Given the description of an element on the screen output the (x, y) to click on. 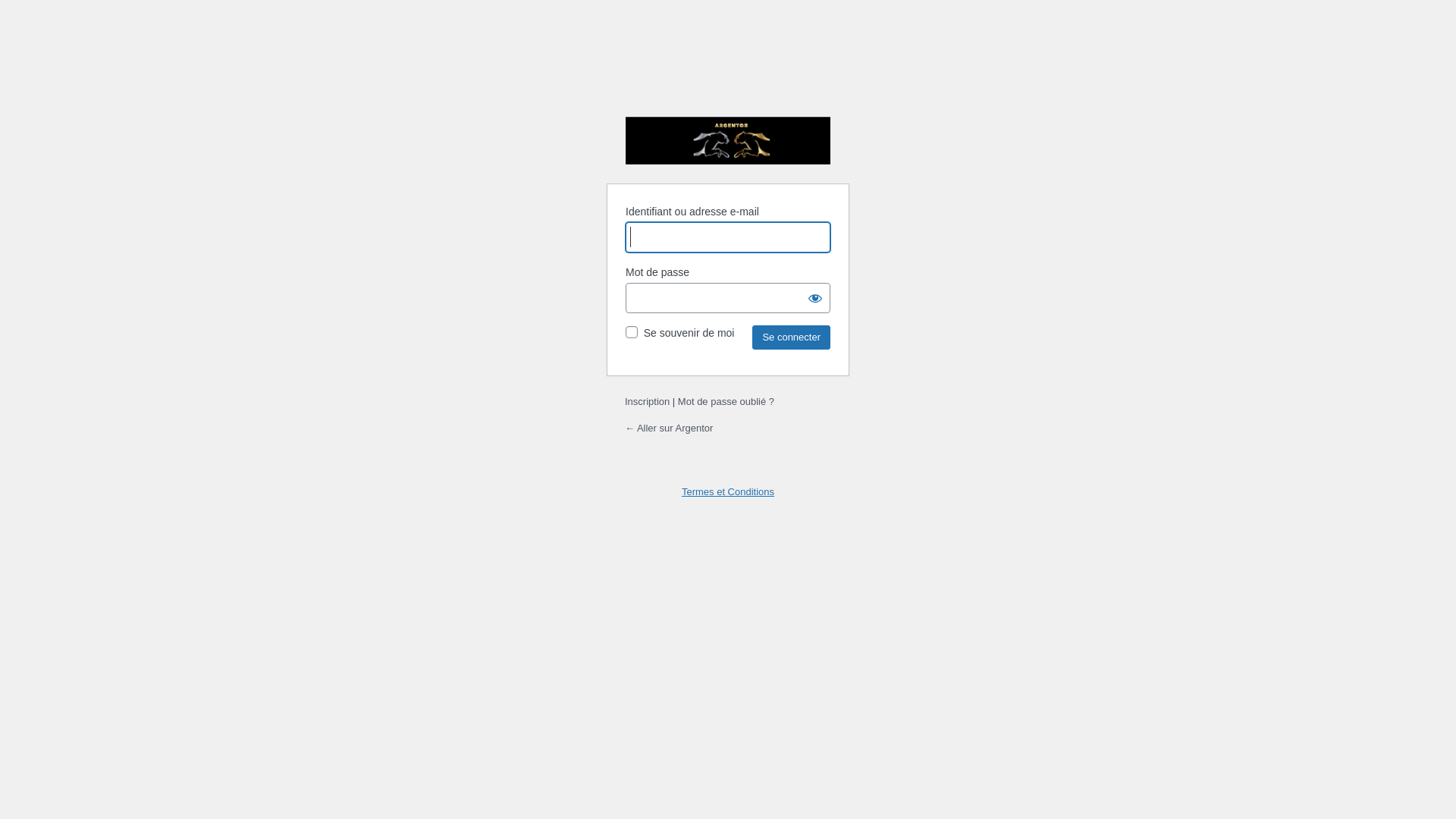
Termes et Conditions Element type: text (727, 491)
Se connecter Element type: text (791, 337)
Inscription Element type: text (646, 401)
